Given the description of an element on the screen output the (x, y) to click on. 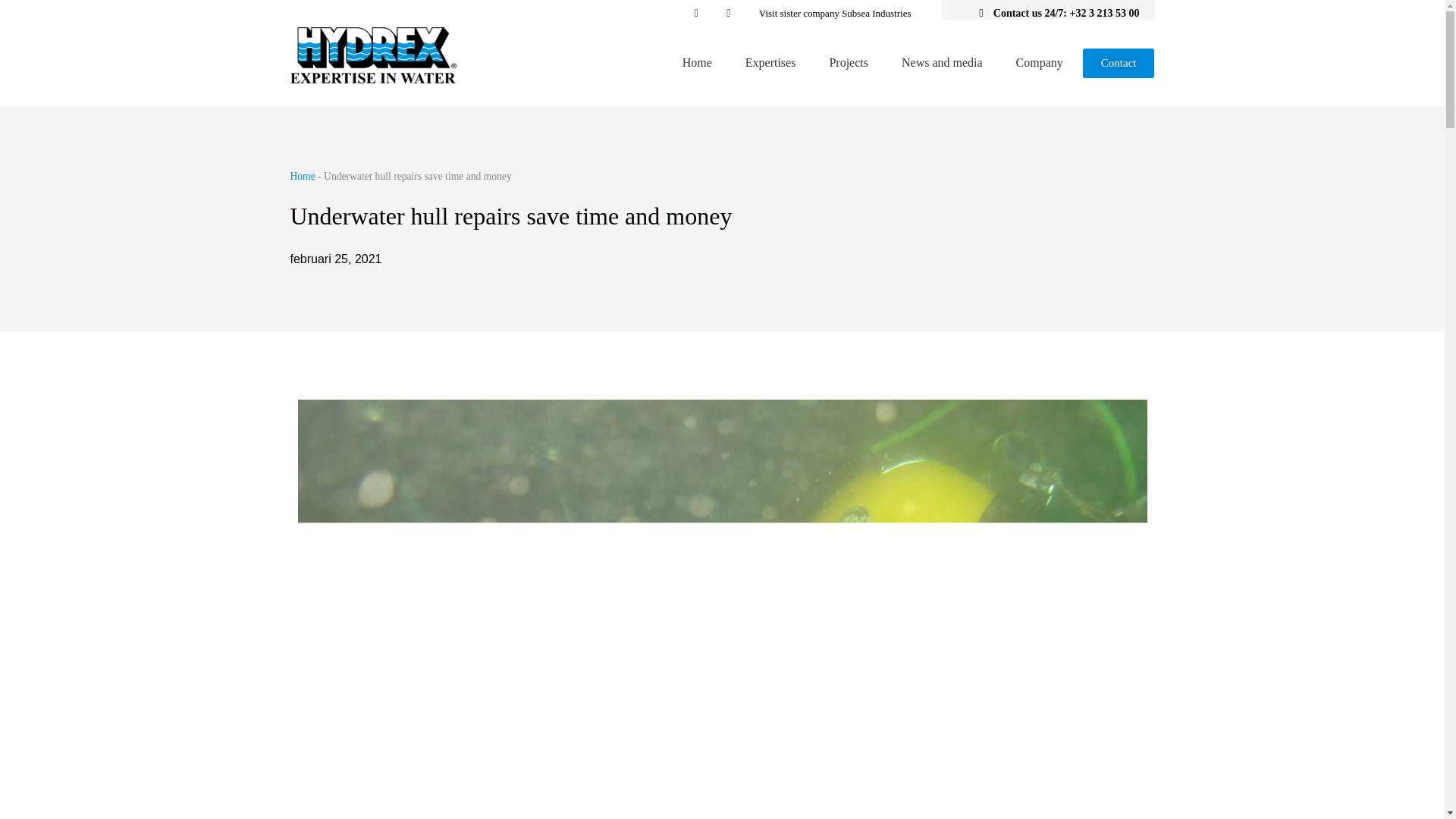
Company (1039, 62)
News and media (941, 62)
Expertises (770, 62)
Home (697, 62)
Projects (848, 62)
Visit sister company Subsea Industries (834, 13)
